Given the description of an element on the screen output the (x, y) to click on. 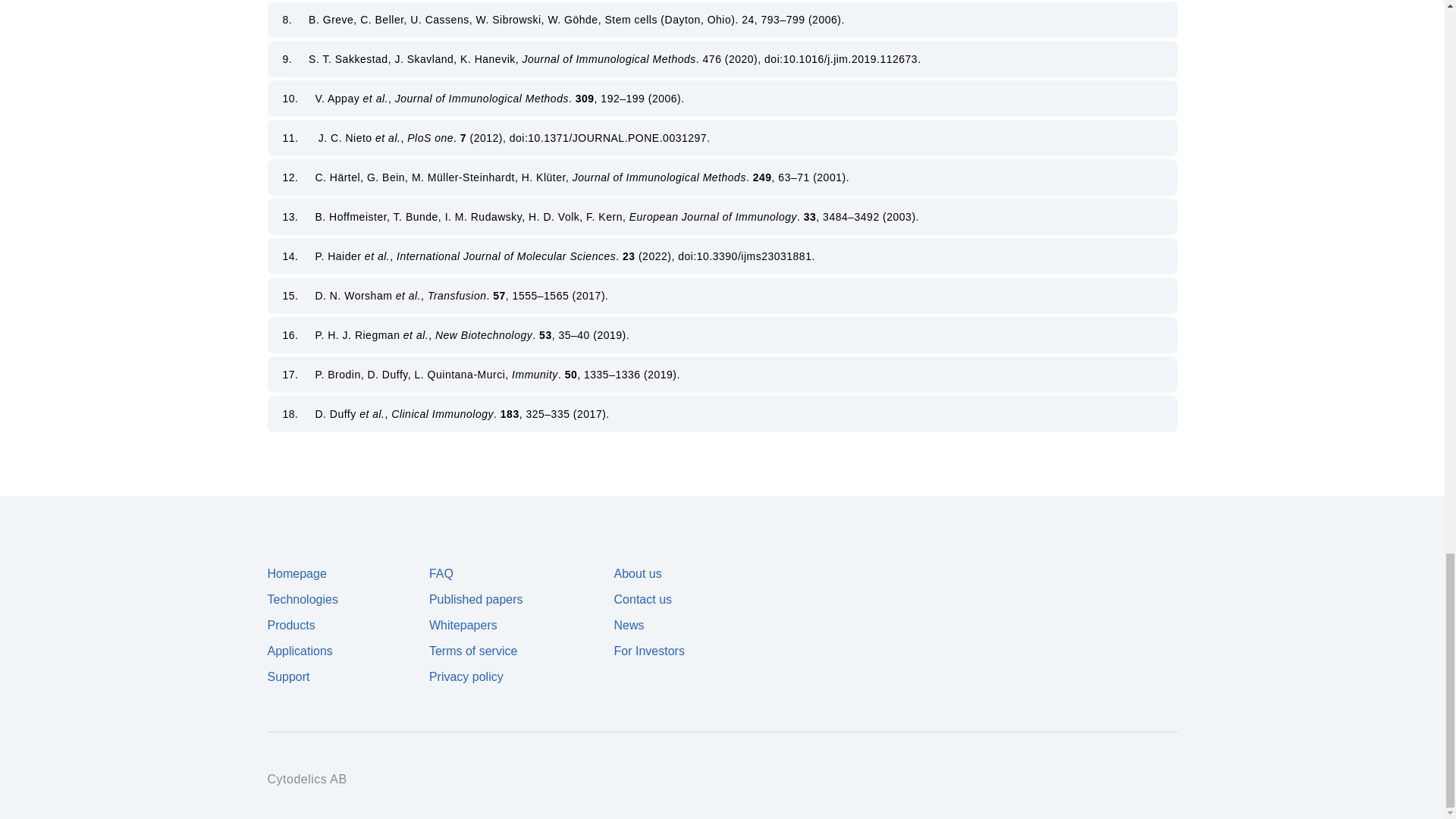
Homepage (296, 573)
Support (287, 676)
Applications (298, 650)
News (629, 625)
Privacy policy (466, 676)
Contact us (642, 599)
Whitepapers (463, 625)
Terms of service (472, 650)
Products (290, 625)
For Investors (649, 650)
